Given the description of an element on the screen output the (x, y) to click on. 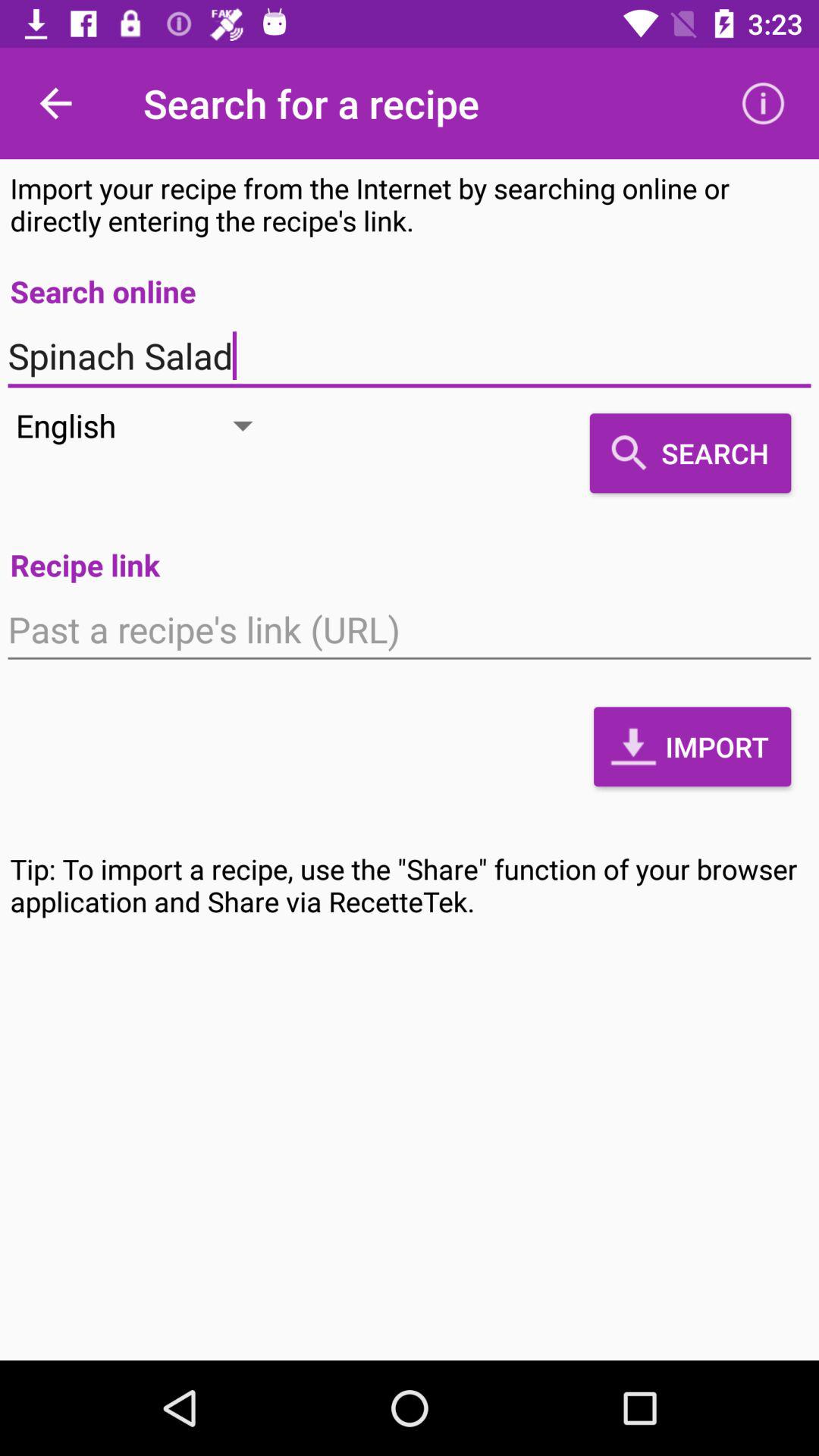
click the item next to the search for a icon (55, 103)
